Given the description of an element on the screen output the (x, y) to click on. 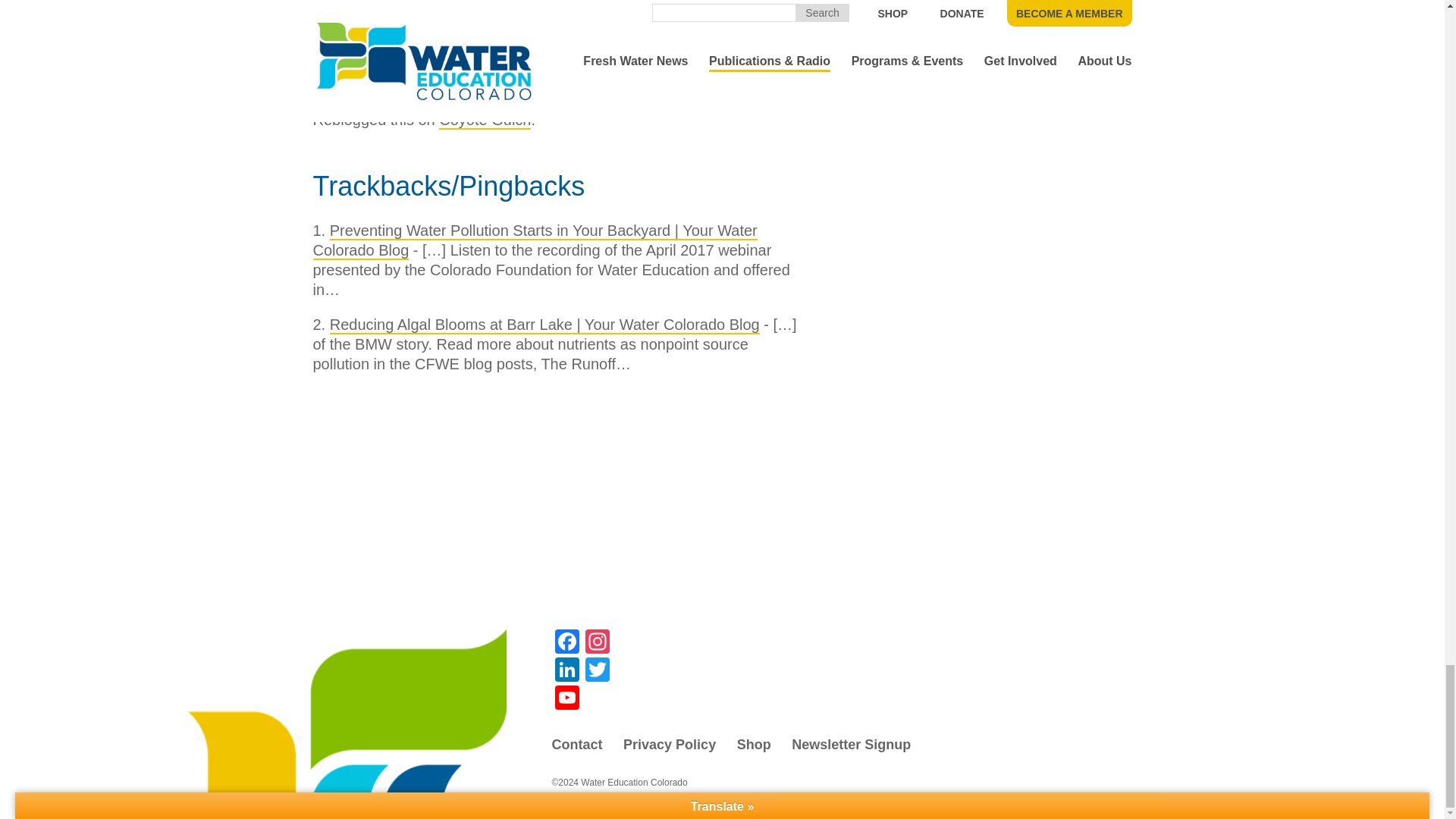
YouTube (566, 699)
LinkedIn (566, 671)
Instagram (597, 643)
Twitter (597, 671)
Facebook (566, 643)
